Given the description of an element on the screen output the (x, y) to click on. 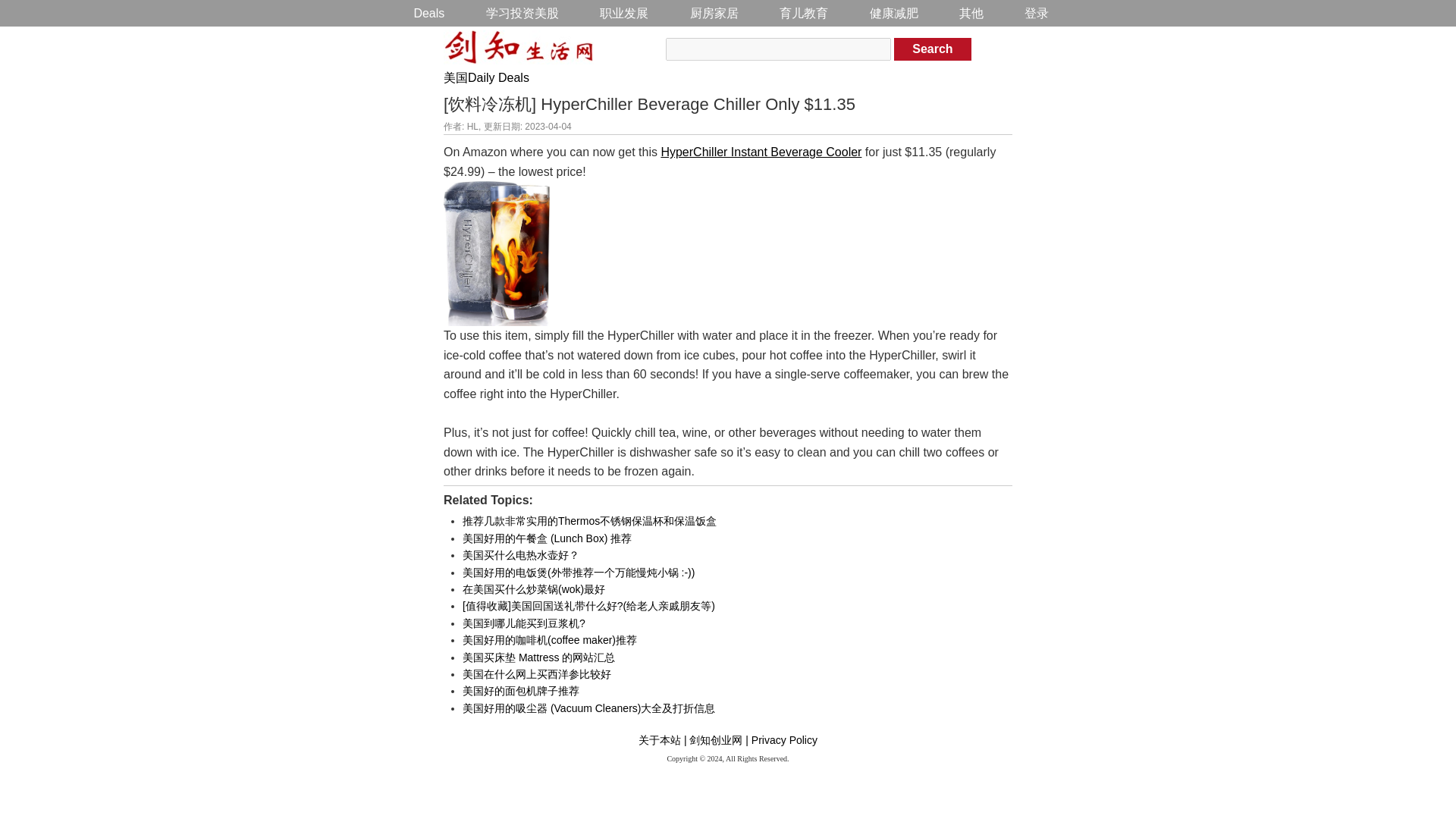
 Search  (932, 48)
 Search  (932, 48)
HyperChiller Instant Beverage Cooler (761, 151)
Privacy Policy (783, 739)
Deals (428, 13)
